Given the description of an element on the screen output the (x, y) to click on. 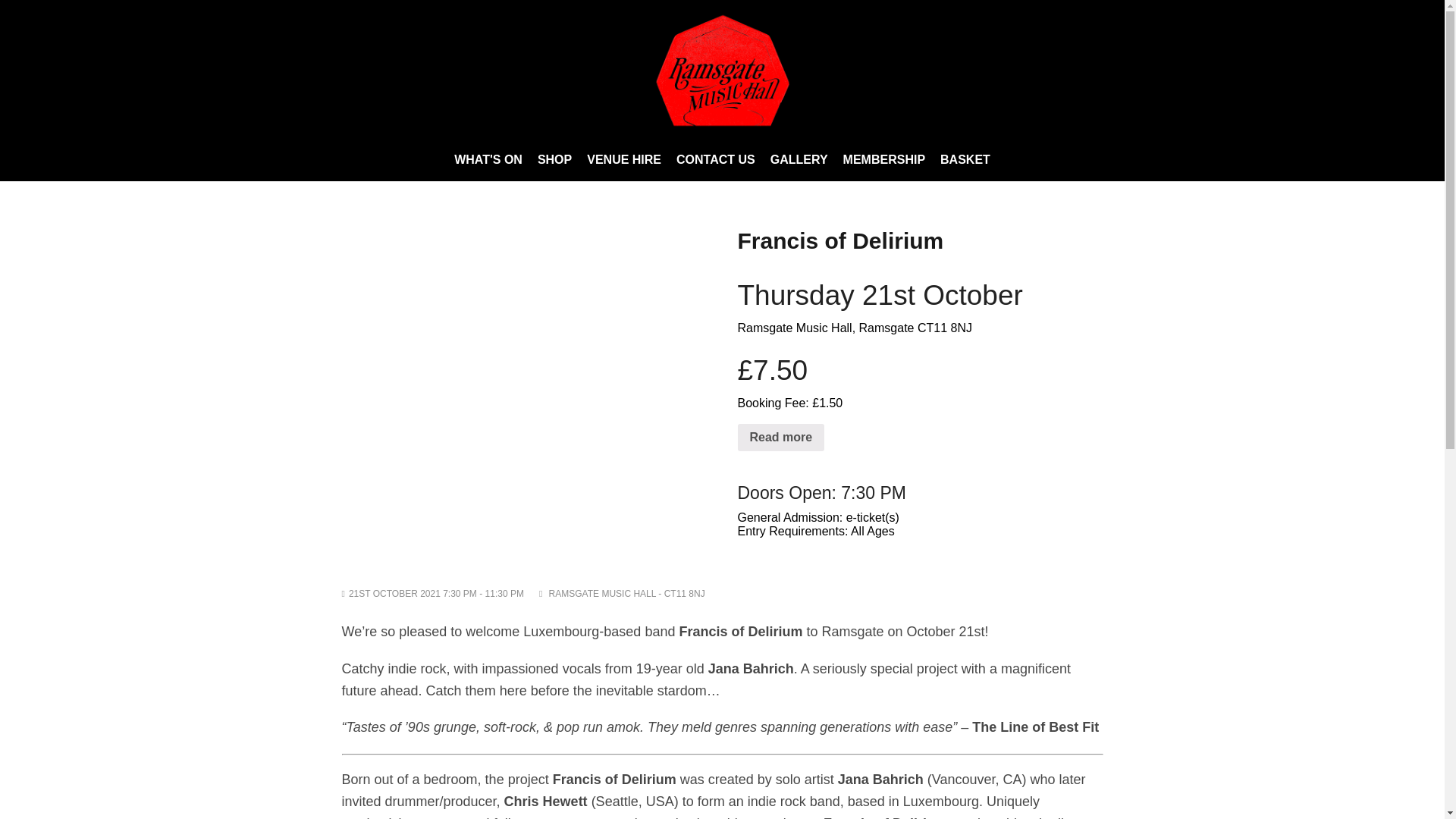
BASKET (965, 161)
CONTACT US (716, 161)
VENUE HIRE (623, 161)
SHOP (554, 161)
WHAT'S ON (488, 161)
Read more (780, 437)
MEMBERSHIP (883, 161)
GALLERY (799, 161)
